Given the description of an element on the screen output the (x, y) to click on. 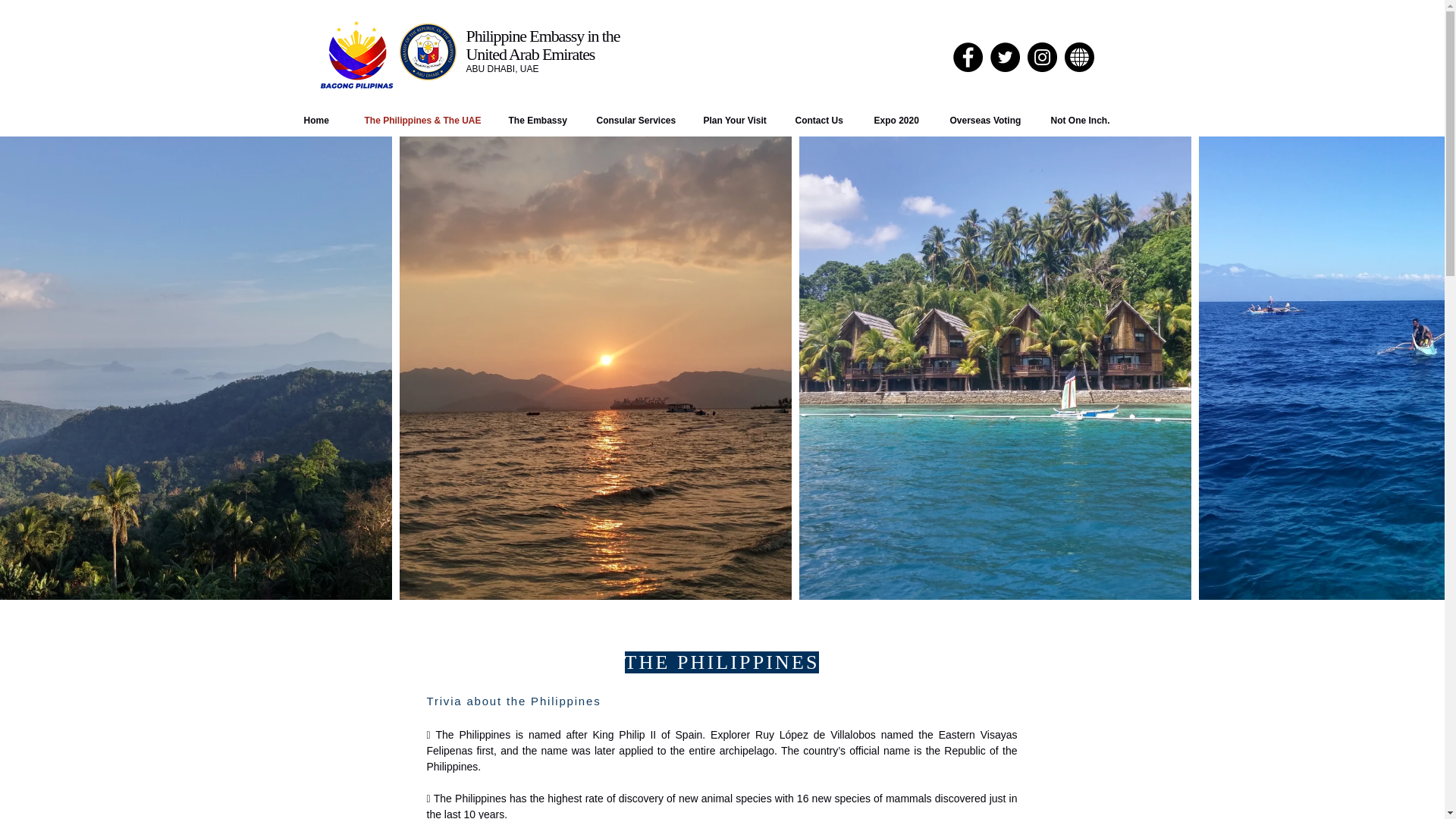
Plan Your Visit (741, 120)
Expo 2020 (904, 120)
The Embassy (544, 120)
Consular Services (641, 120)
Not One Inch. (1089, 120)
Home (325, 120)
Overseas Voting (992, 120)
Contact Us (826, 120)
